Given the description of an element on the screen output the (x, y) to click on. 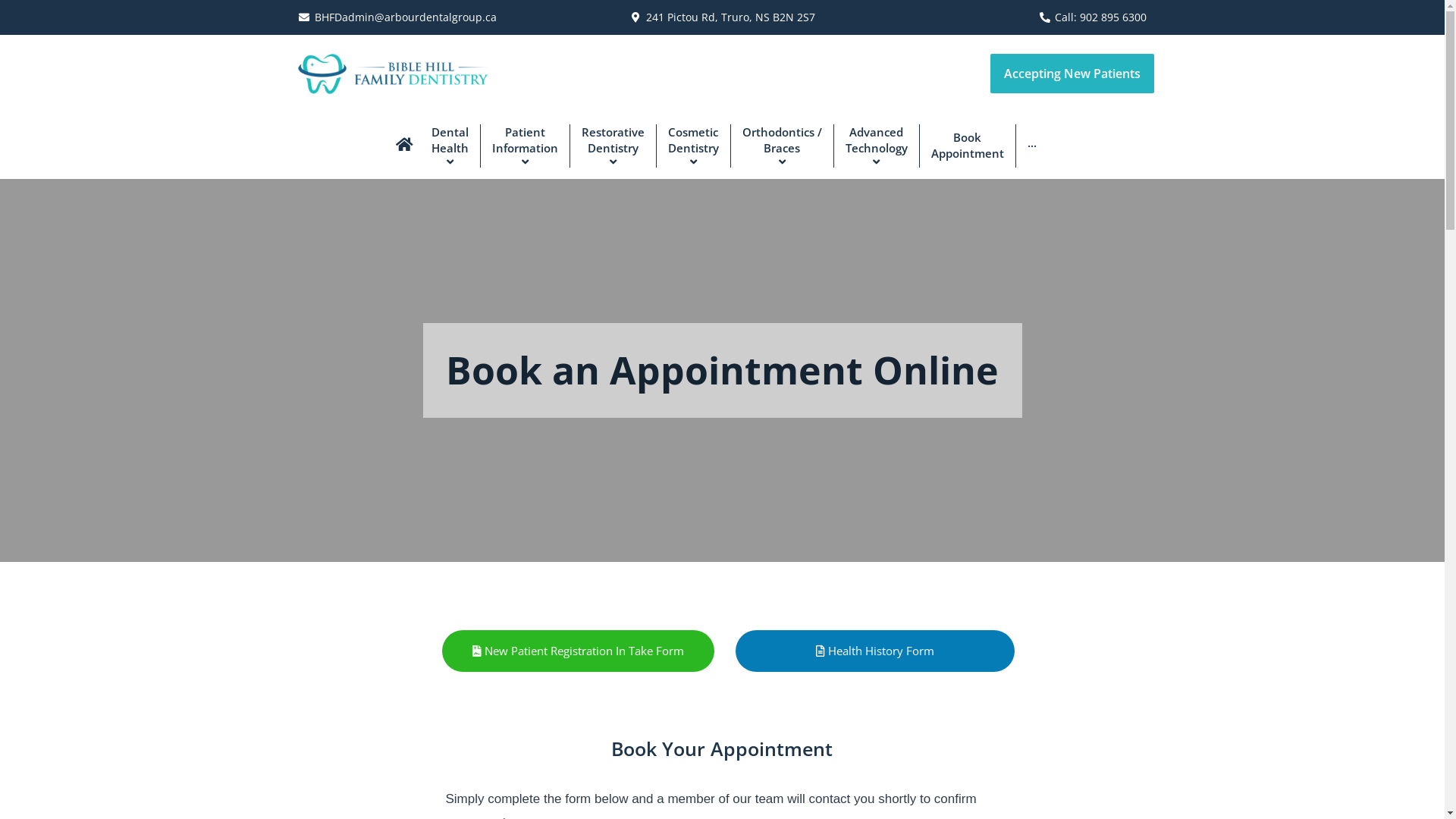
Health History Form Element type: text (874, 650)
Patient
Information Element type: text (523, 145)
Call: 902 895 6300 Element type: text (1100, 16)
Cosmetic
Dentistry Element type: text (692, 145)
Dental
Health Element type: text (450, 145)
Restorative
Dentistry Element type: text (611, 145)
BHFDadmin@arbourdentalgroup.ca Element type: text (405, 16)
New Patient Registration In Take Form Element type: text (578, 650)
Advanced
Technology Element type: text (875, 145)
Orthodontics /
Braces Element type: text (780, 145)
Book
Appointment Element type: text (967, 145)
241 Pictou Rd, Truro, NS B2N 2S7 Element type: text (730, 16)
Accepting New Patients Element type: text (1072, 73)
